Given the description of an element on the screen output the (x, y) to click on. 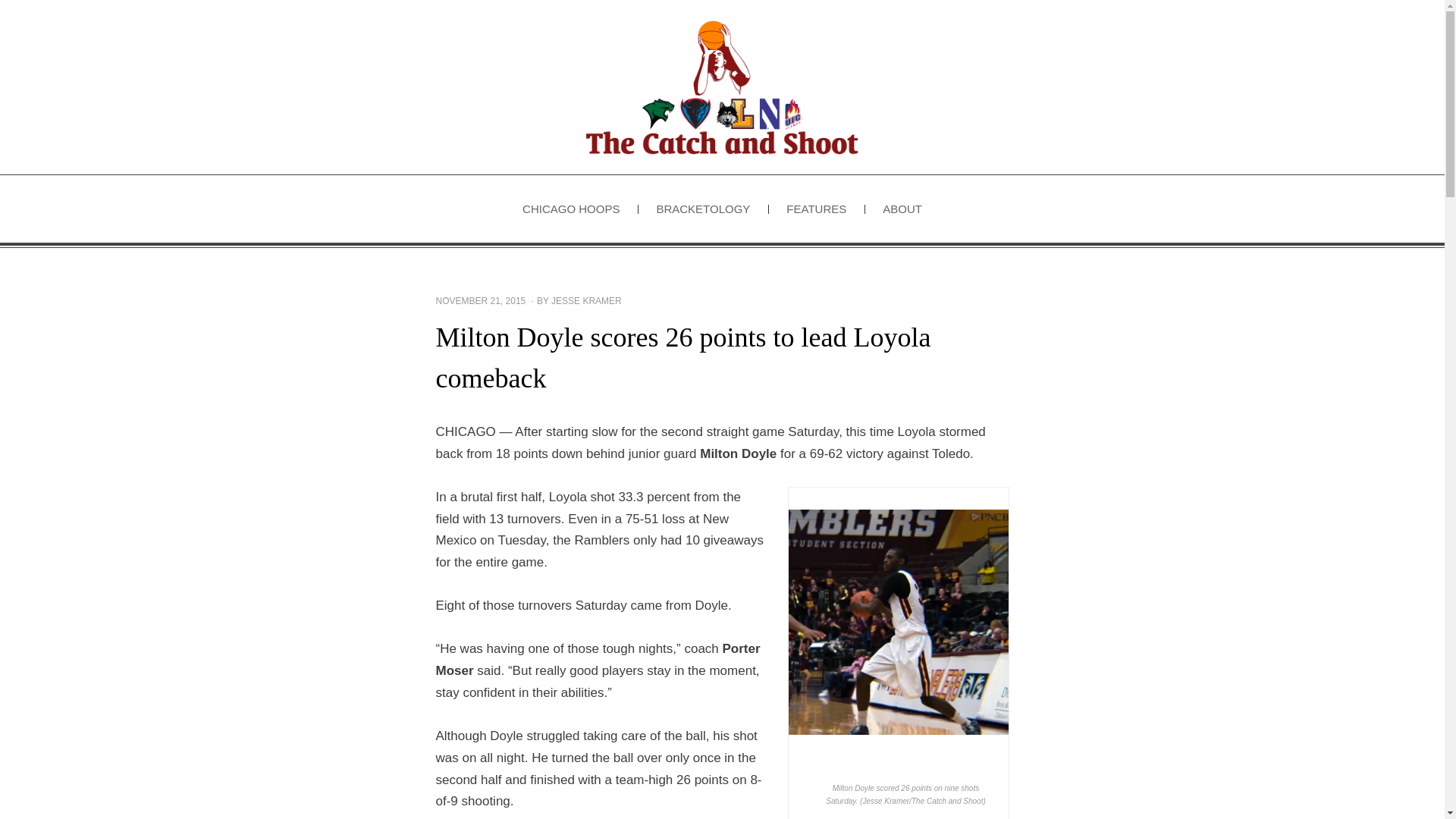
BRACKETOLOGY (702, 208)
JESSE KRAMER (586, 300)
ABOUT (902, 208)
FEATURES (816, 208)
CHICAGO HOOPS (570, 208)
NOVEMBER 21, 2015 (480, 300)
